Given the description of an element on the screen output the (x, y) to click on. 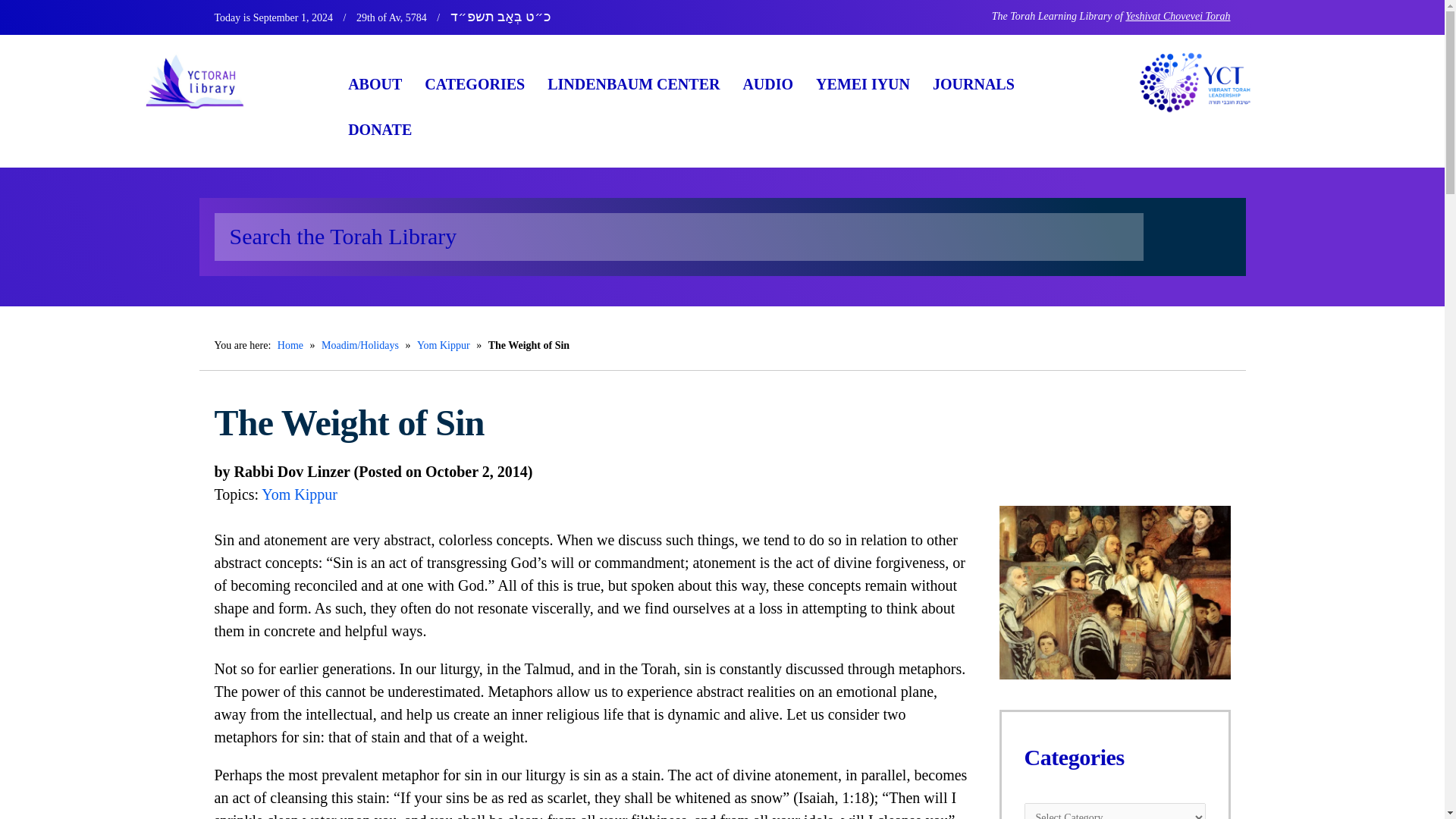
Lindenbaum Center (632, 84)
Return to the homepage (220, 81)
Yom Kippur (299, 494)
AUDIO (767, 84)
Search the Torah Library (678, 236)
LINDENBAUM CENTER (632, 84)
YEMEI IYUN (863, 84)
JOURNALS (973, 84)
Yeshivat Chovevei Torah (1177, 16)
ABOUT (374, 84)
